Given the description of an element on the screen output the (x, y) to click on. 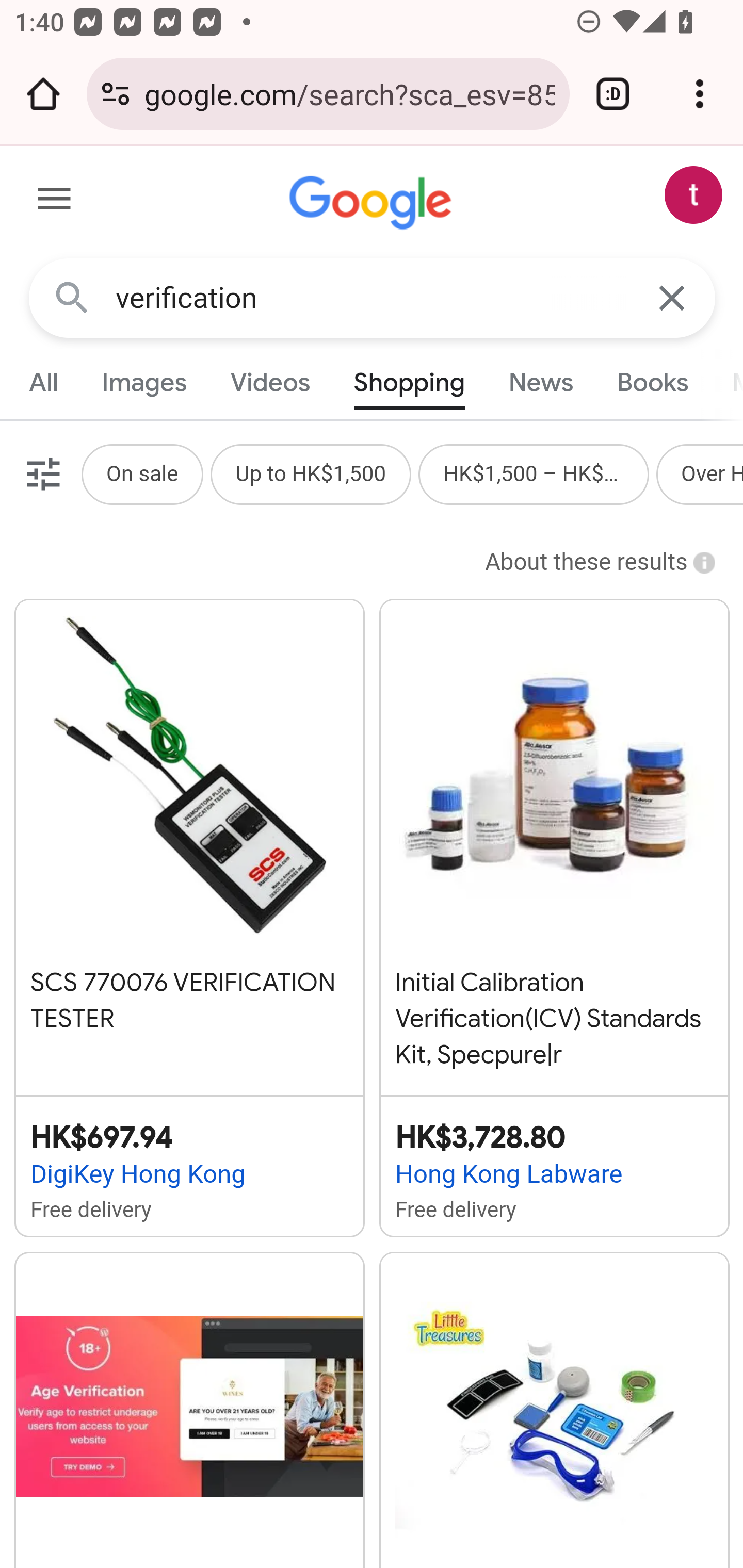
Open the home page (43, 93)
Connection is secure (115, 93)
Switch or close tabs (612, 93)
Customize and control Google Chrome (699, 93)
